Given the description of an element on the screen output the (x, y) to click on. 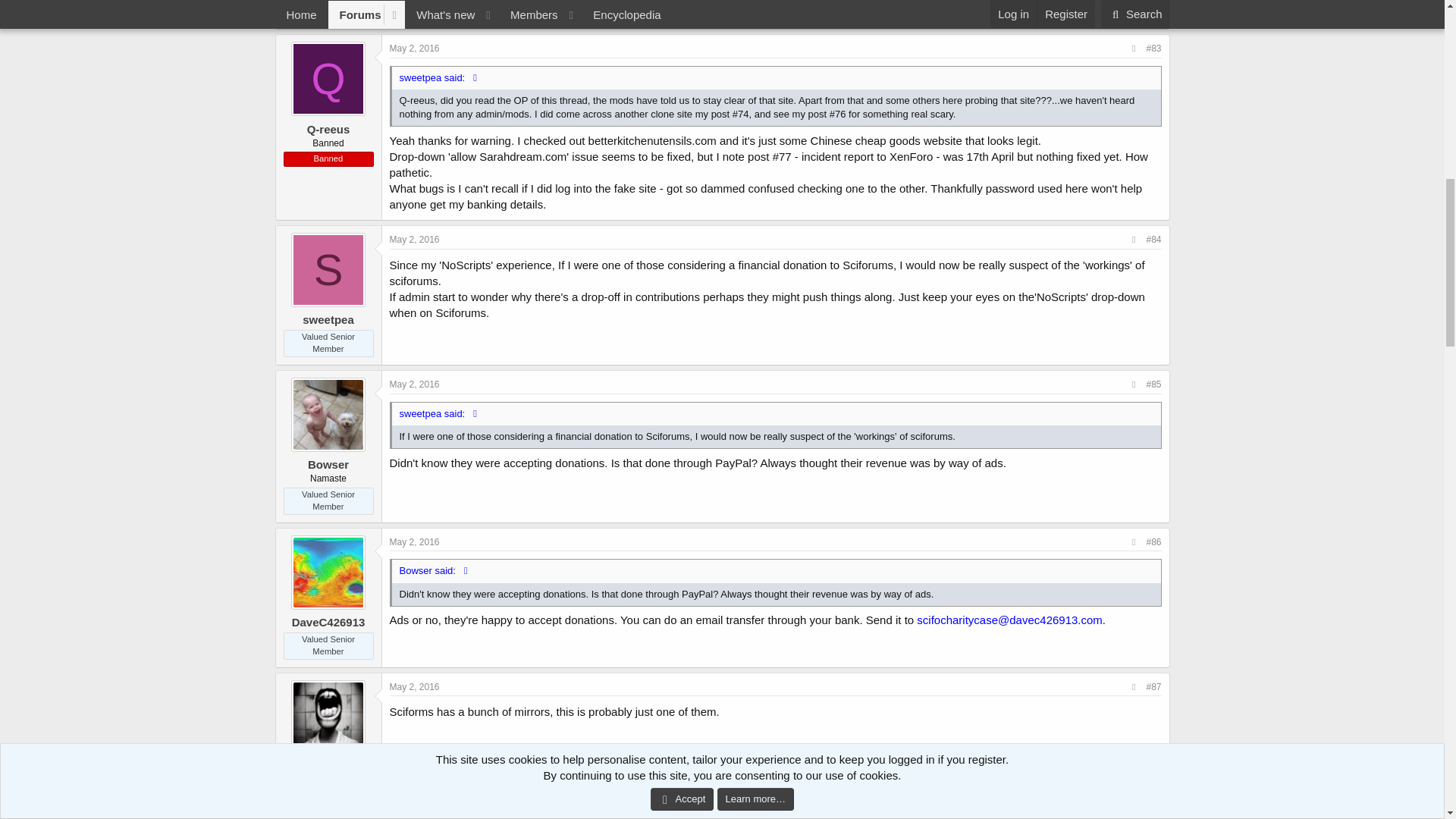
May 2, 2016 at 5:34 PM (414, 542)
May 2, 2016 at 5:29 PM (414, 384)
May 2, 2016 at 4:23 AM (414, 48)
May 2, 2016 at 5:52 PM (414, 686)
May 2, 2016 at 10:50 AM (414, 239)
